Given the description of an element on the screen output the (x, y) to click on. 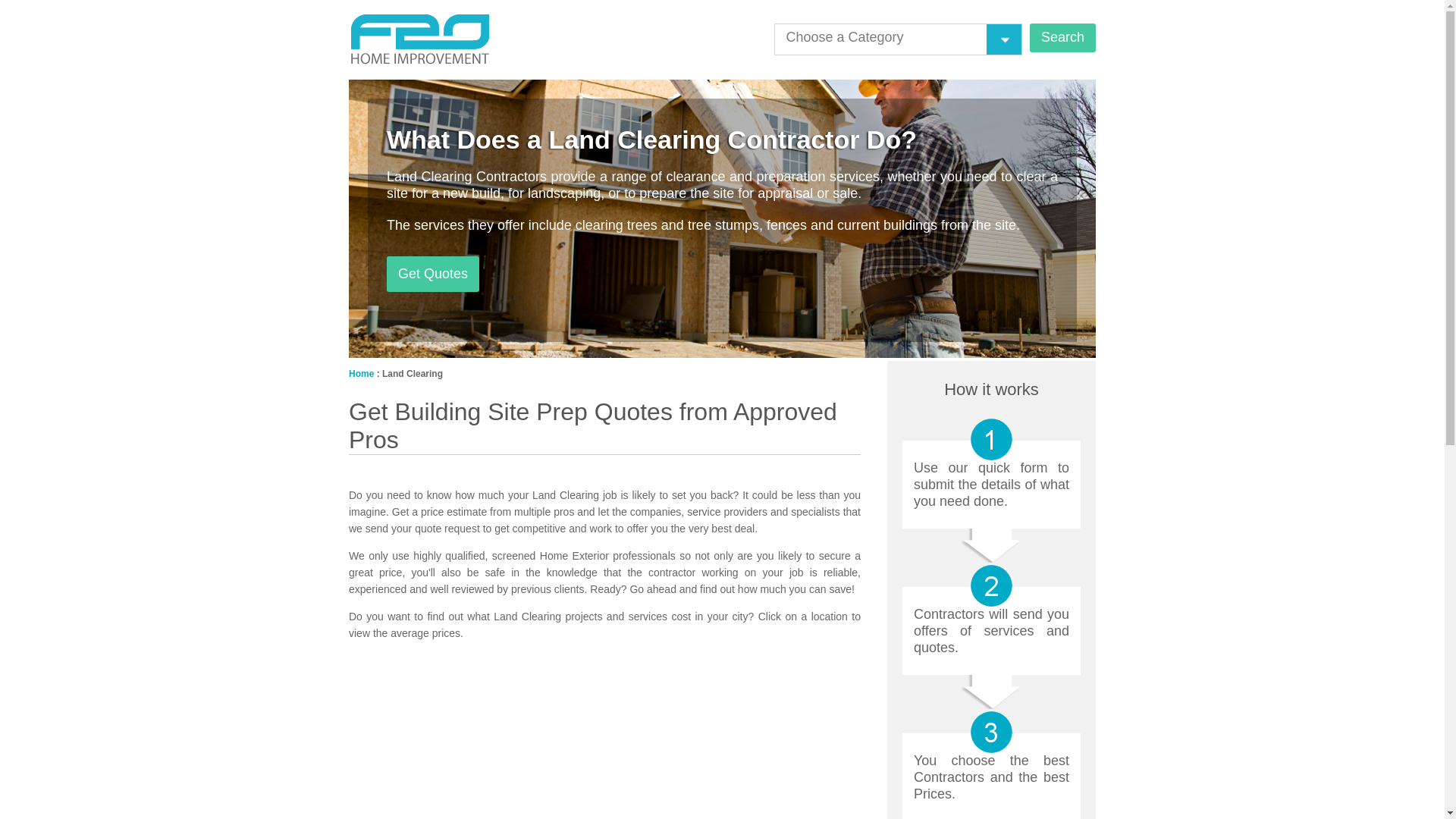
Home (361, 373)
Search (1062, 37)
